Given the description of an element on the screen output the (x, y) to click on. 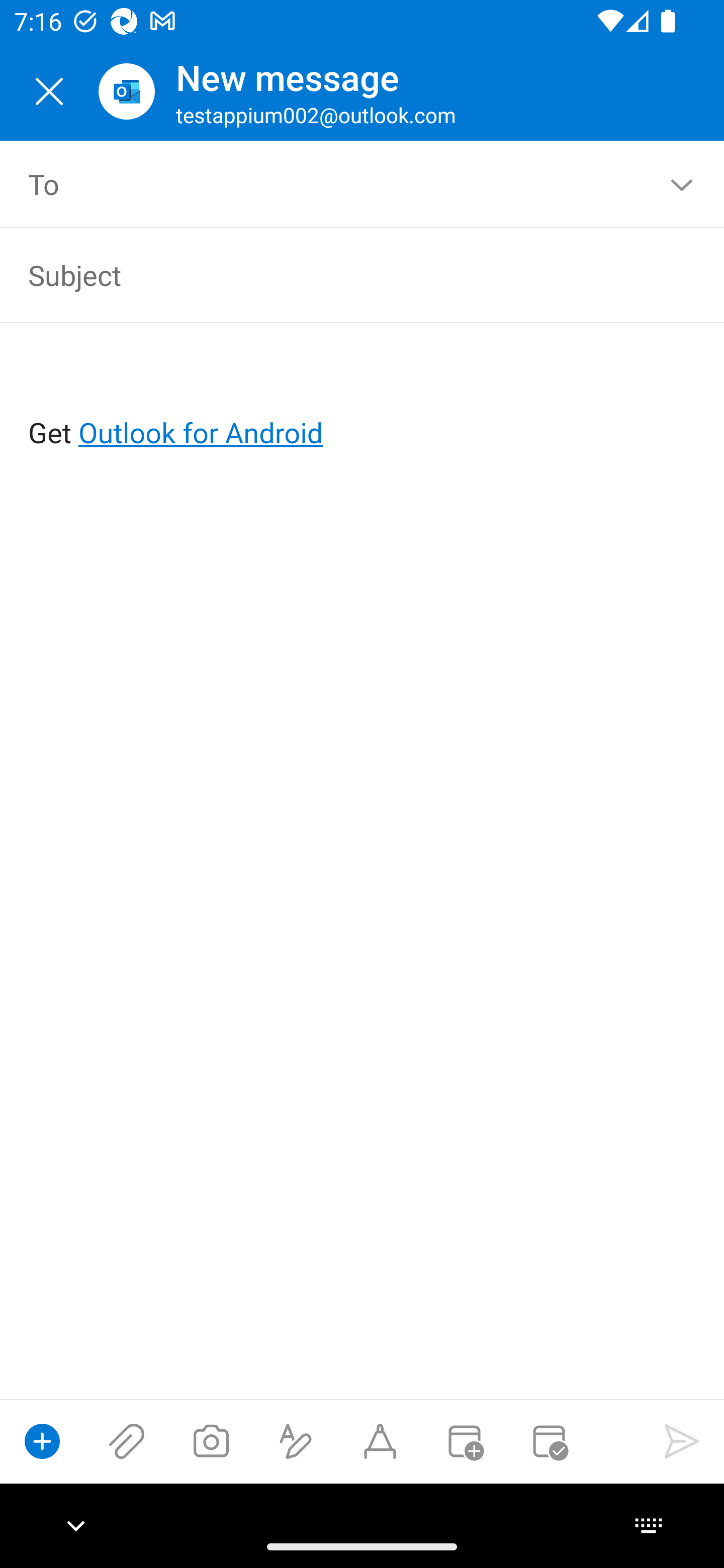
Close (49, 91)
Subject (333, 274)
Show compose options (42, 1440)
Attach files (126, 1440)
Take a photo (210, 1440)
Show formatting options (295, 1440)
Start Ink compose (380, 1440)
Convert to event (464, 1440)
Send availability (548, 1440)
Send (681, 1440)
